Given the description of an element on the screen output the (x, y) to click on. 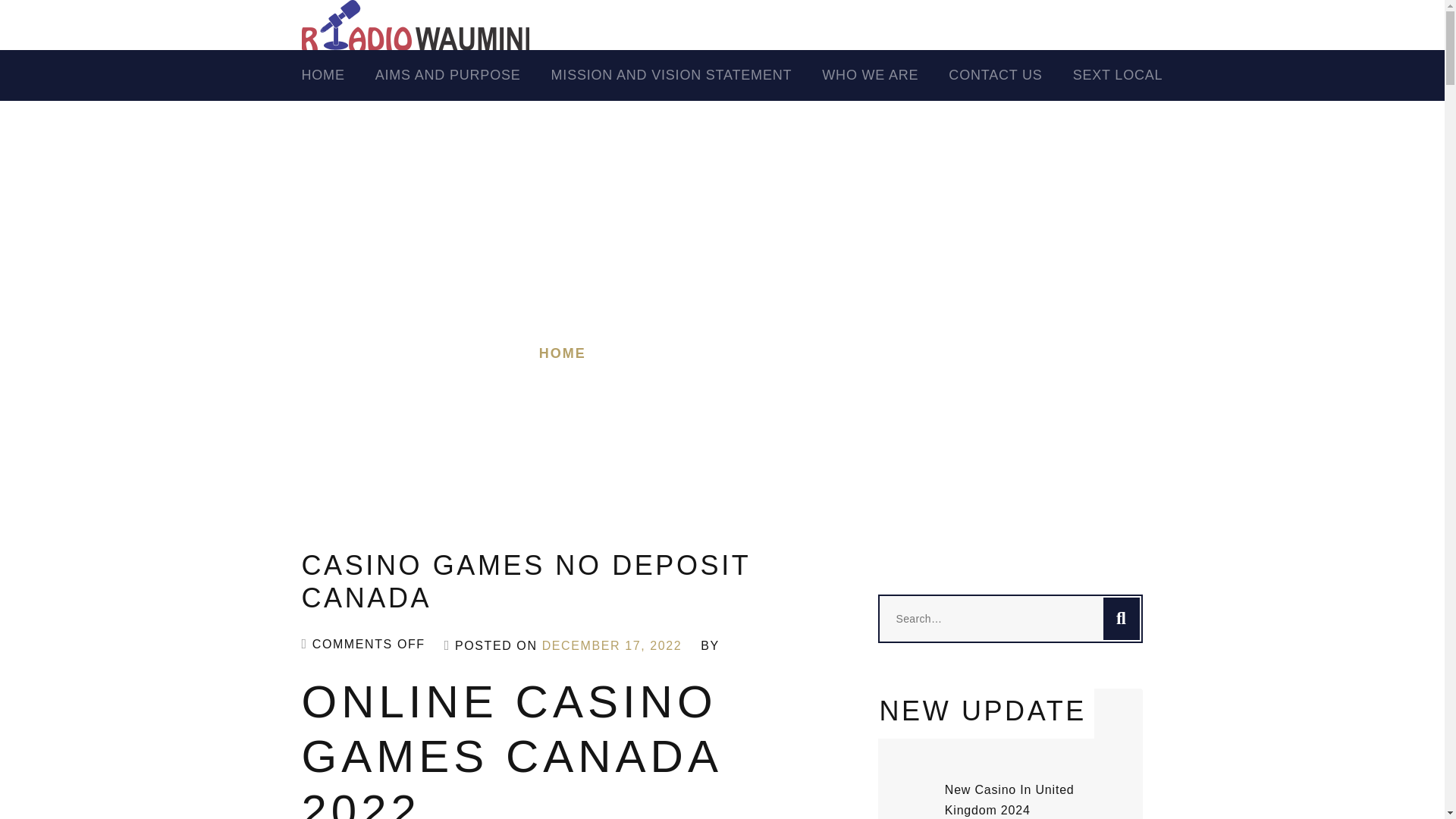
Sext Local (1133, 75)
Contact Us (1010, 75)
CASINO GAMES NO DEPOSIT CANADA (753, 353)
Aims And Purpose (463, 75)
Search for: (1010, 618)
SEXT LOCAL (1133, 75)
MISSION AND VISION STATEMENT (686, 75)
Home (338, 75)
WHO WE ARE (885, 75)
CONTACT US (1010, 75)
AIMS AND PURPOSE (463, 75)
DECEMBER 17, 2022 (611, 645)
Who We Are (885, 75)
HOME (338, 75)
HOME (562, 353)
